Given the description of an element on the screen output the (x, y) to click on. 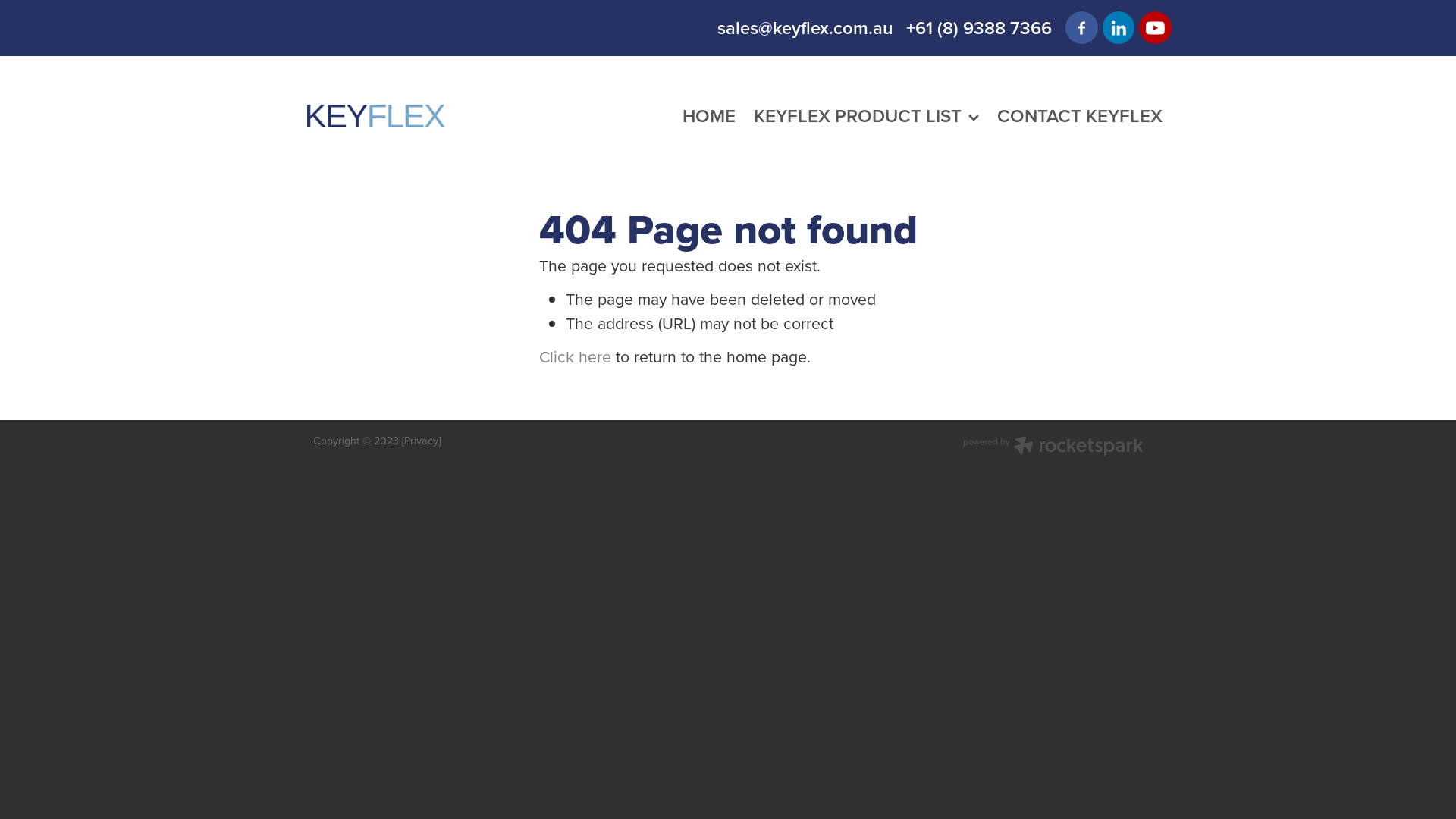
Privacy Element type: text (421, 440)
A link to this website's Facebook. Element type: hover (1081, 27)
Rocketspark website builder Element type: hover (1053, 447)
Click here Element type: text (574, 357)
HOME Element type: text (708, 115)
KEYFLEX PRODUCT LIST Element type: text (866, 115)
CONTACT KEYFLEX Element type: text (1079, 115)
A link to this website's Youtube. Element type: hover (1155, 27)
A link to this website's LinkedIn. Element type: hover (1118, 27)
sales@keyflex.com.au Element type: text (804, 27)
